Given the description of an element on the screen output the (x, y) to click on. 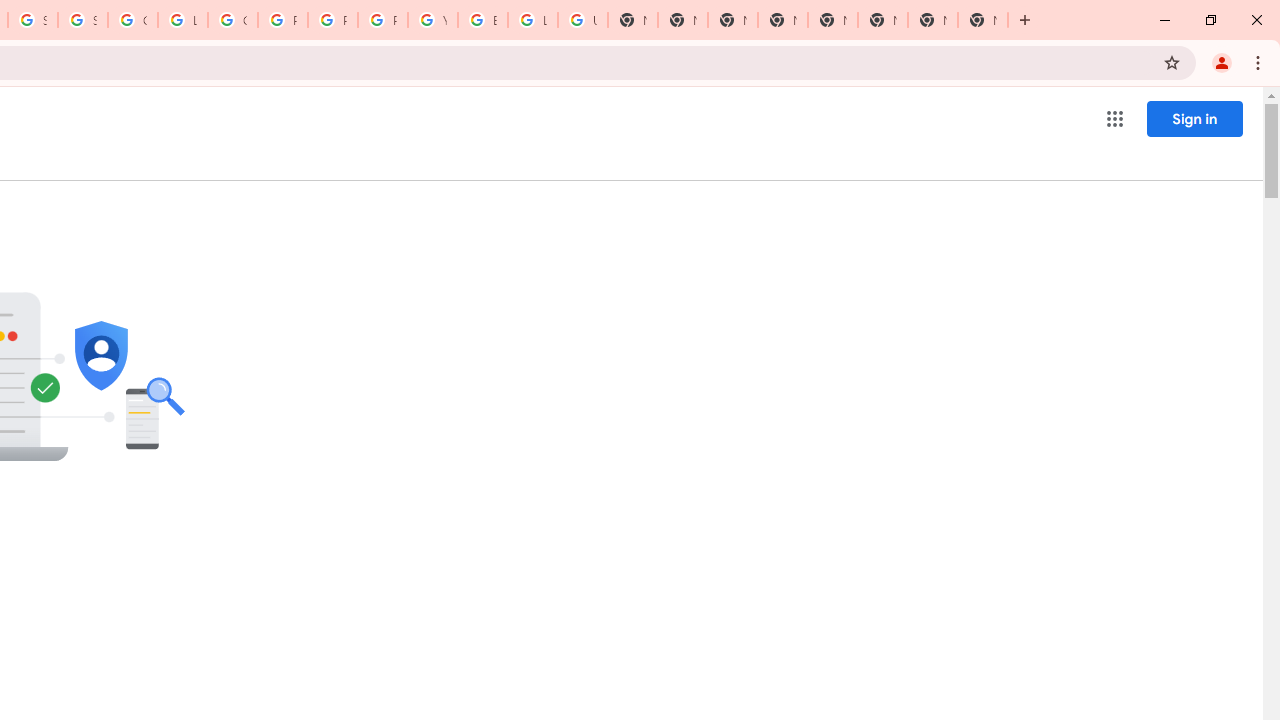
Privacy Help Center - Policies Help (333, 20)
New Tab (982, 20)
